Given the description of an element on the screen output the (x, y) to click on. 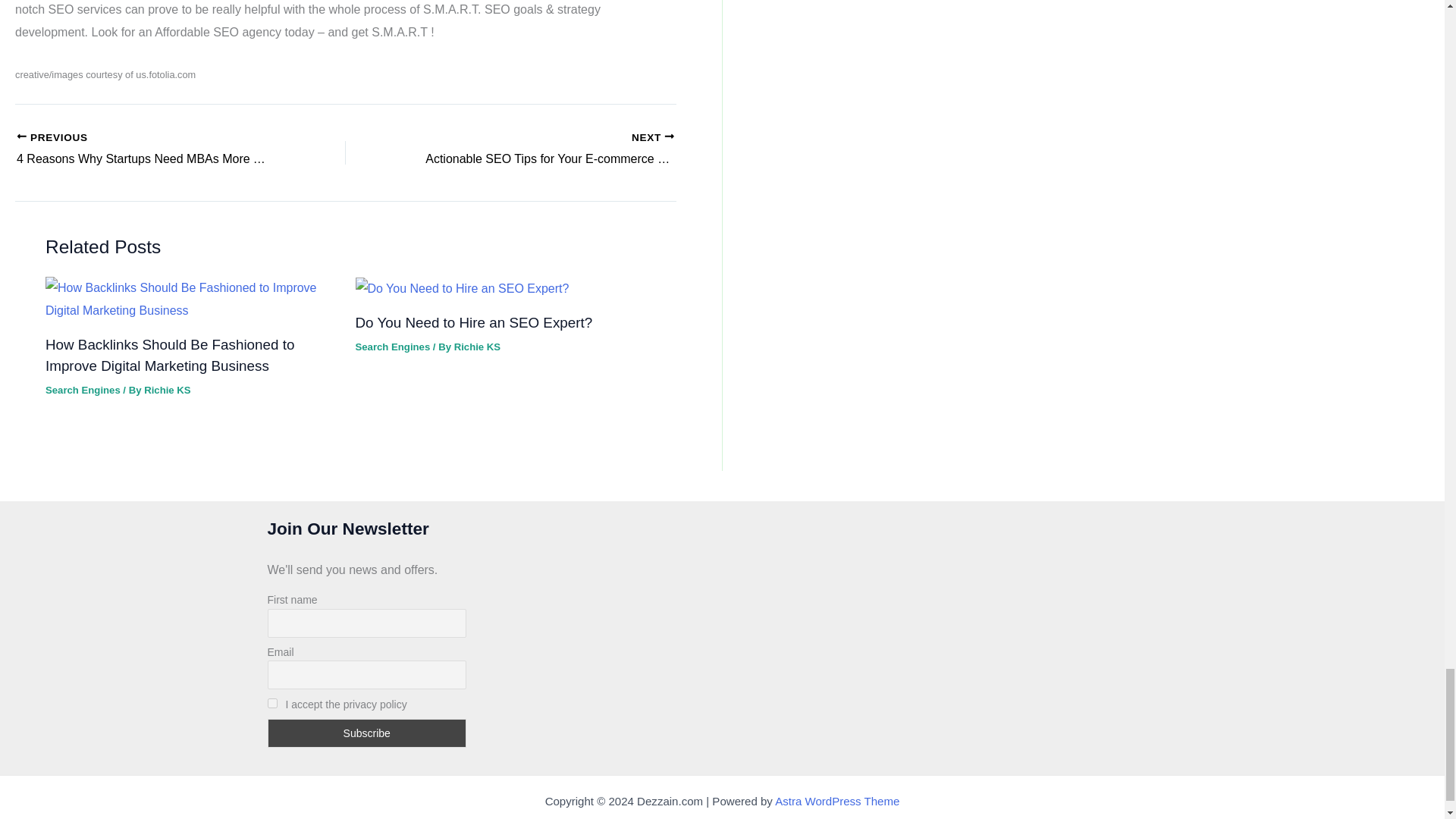
Actionable SEO Tips for Your E-commerce Website (148, 149)
Subscribe (542, 149)
View all posts by Richie KS (365, 733)
4 Reasons Why Startups Need MBAs More Than Ever (542, 149)
on (167, 389)
